Given the description of an element on the screen output the (x, y) to click on. 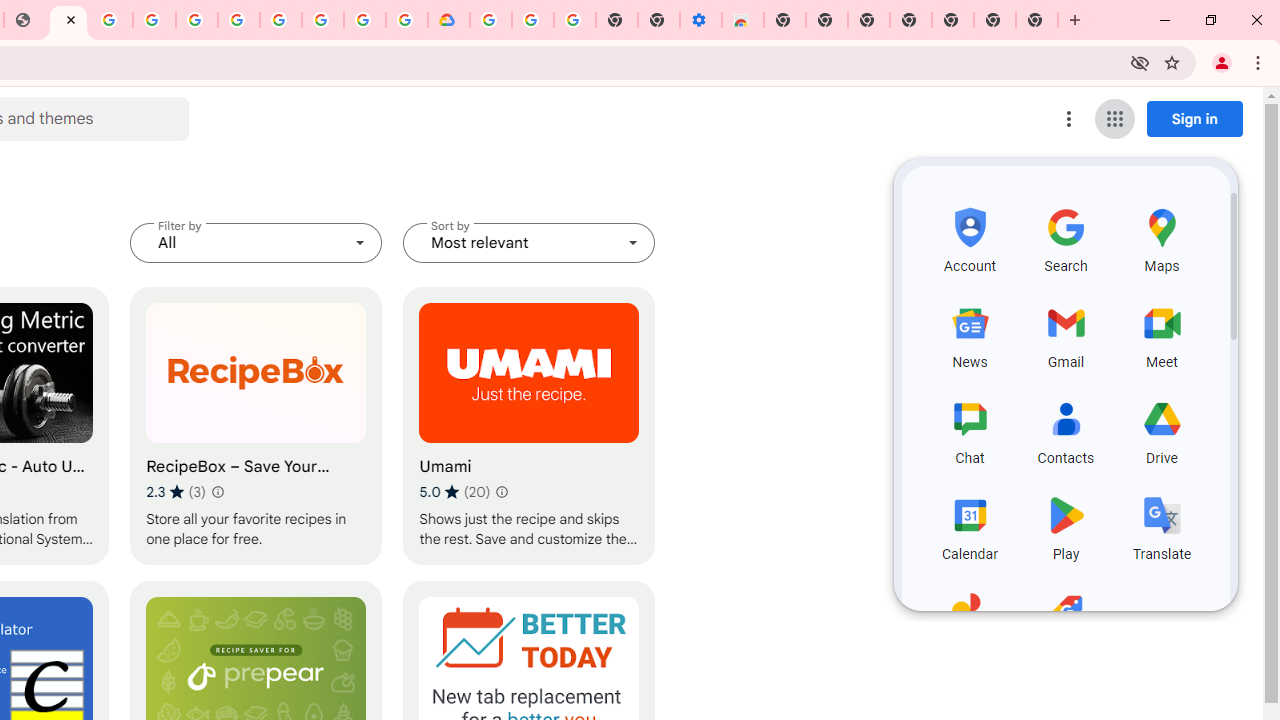
Learn more about results and reviews "Umami" (502, 491)
Turn cookies on or off - Computer - Google Account Help (575, 20)
Filter by All (256, 242)
Google Account Help (533, 20)
Sign in - Google Accounts (196, 20)
Average rating 5 out of 5 stars. 20 ratings. (454, 491)
